Given the description of an element on the screen output the (x, y) to click on. 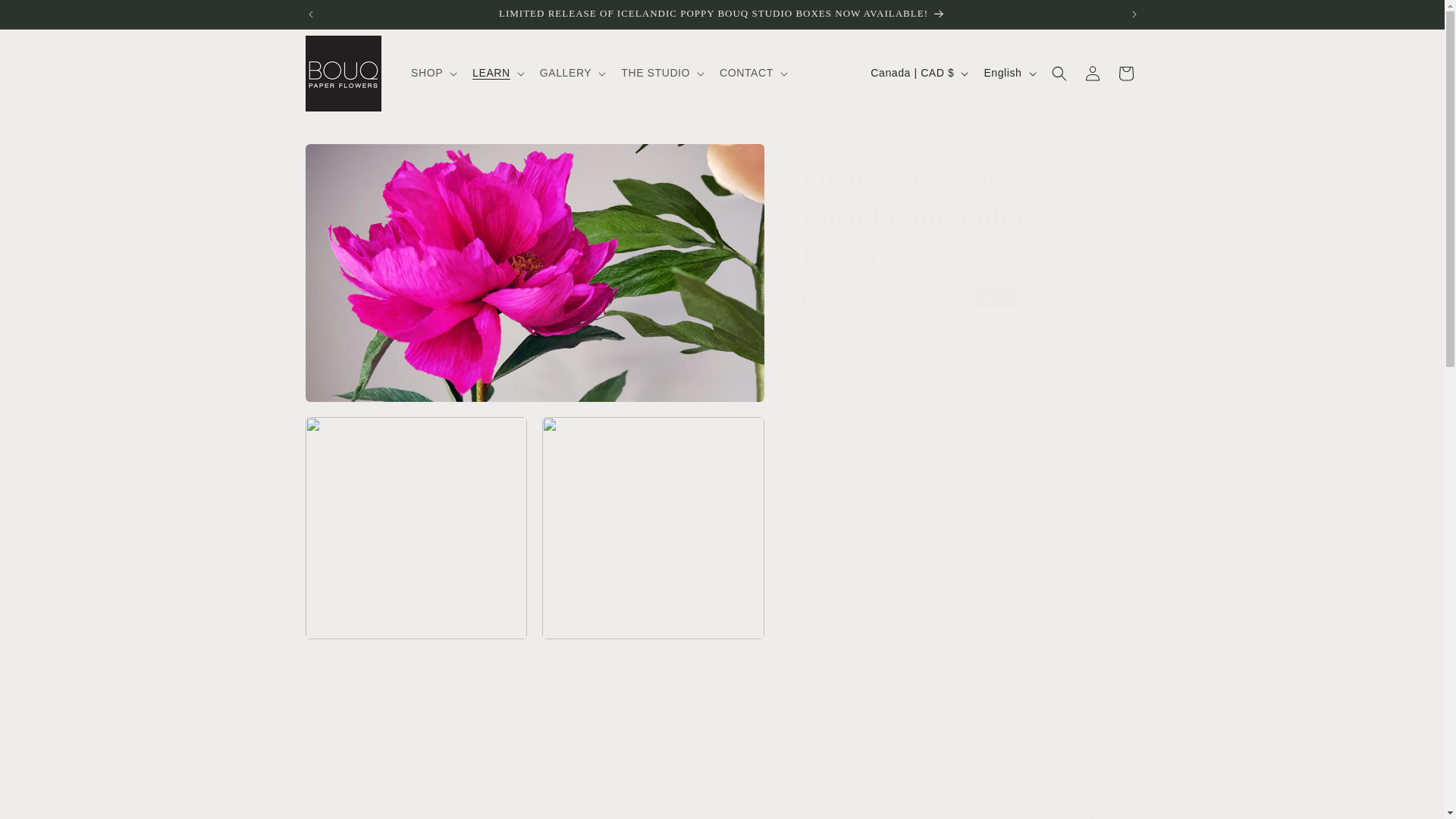
Open media 3 in modal (652, 527)
Open media 1 in modal (533, 273)
Open media 2 in modal (415, 527)
Skip to content (45, 17)
1 (856, 377)
